Given the description of an element on the screen output the (x, y) to click on. 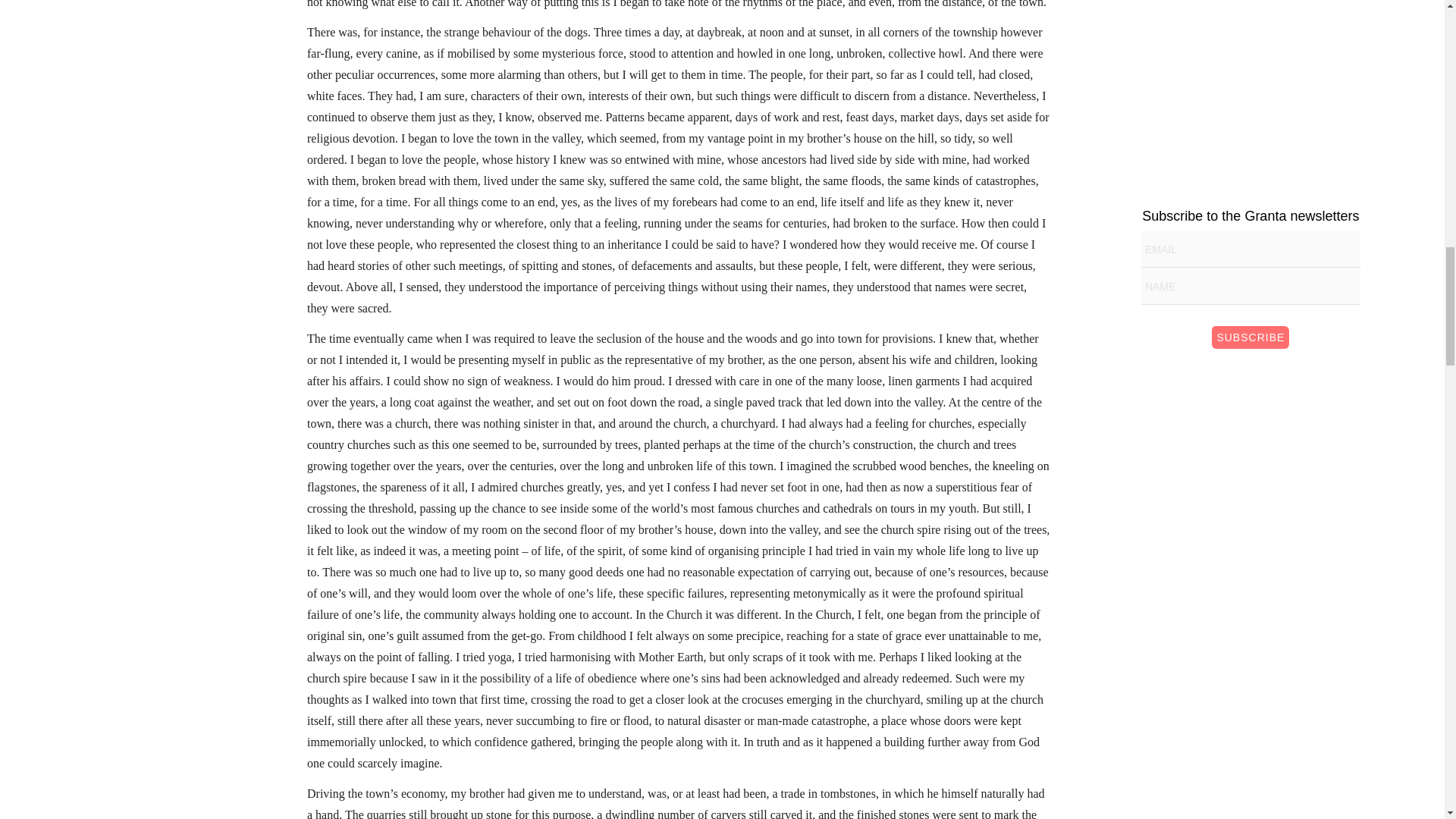
Email (1250, 248)
